Given the description of an element on the screen output the (x, y) to click on. 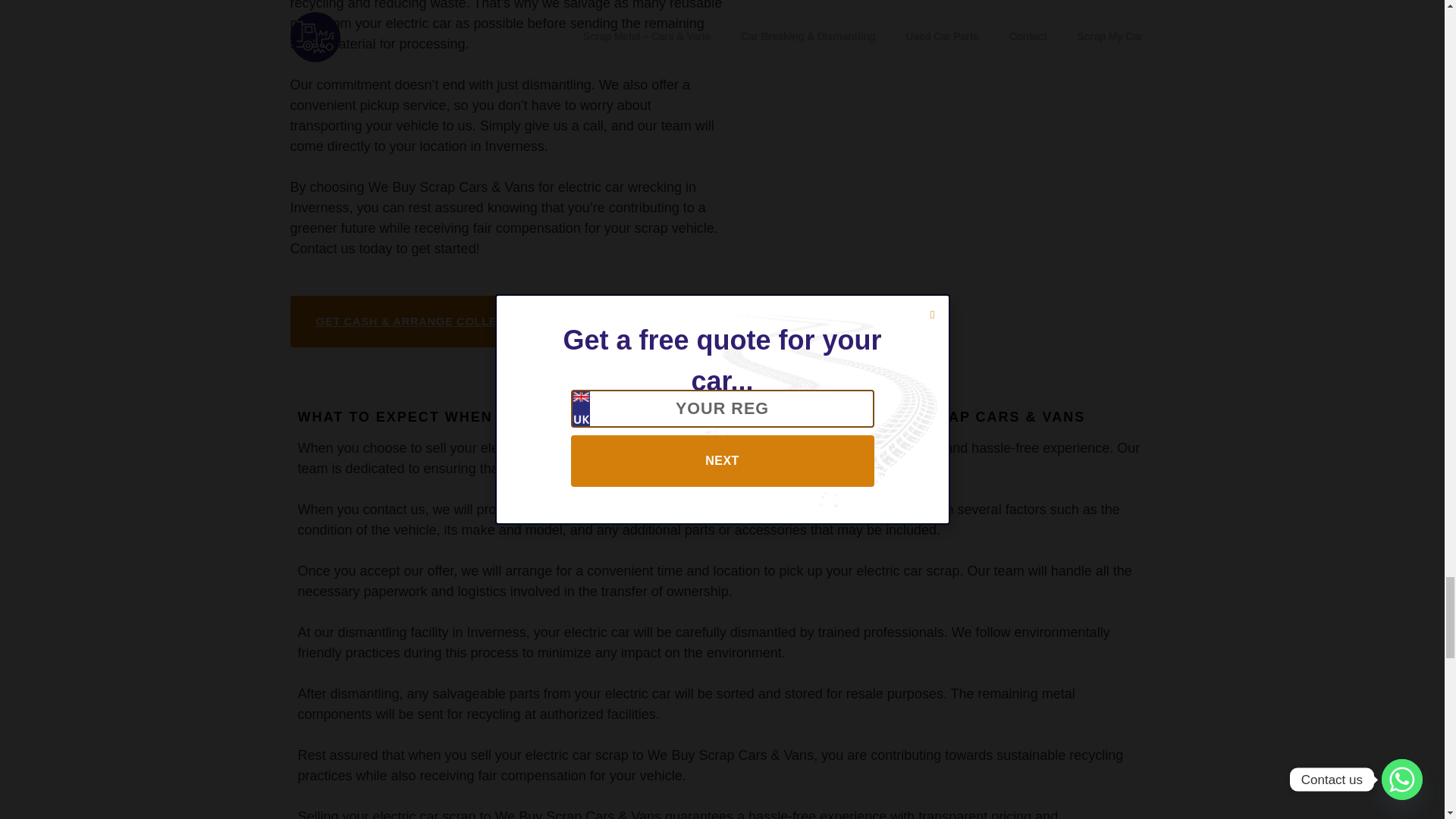
Inverness (962, 49)
